Given the description of an element on the screen output the (x, y) to click on. 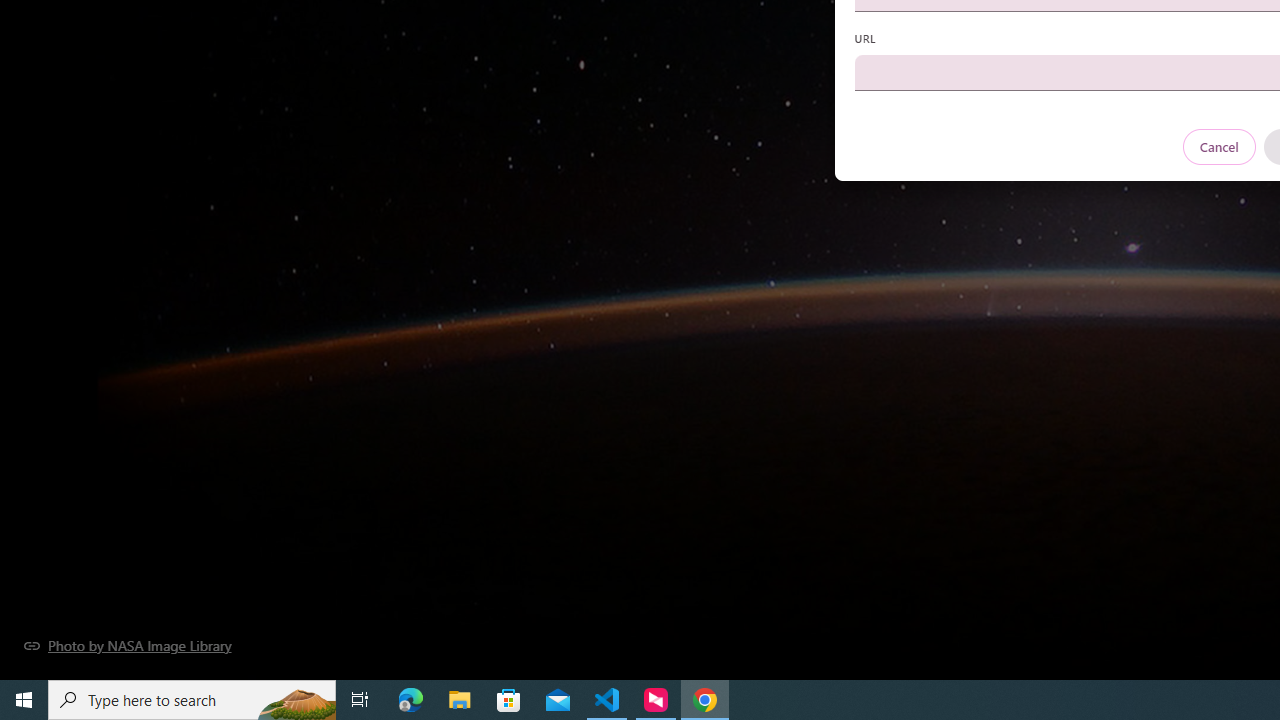
Cancel (1218, 146)
